Given the description of an element on the screen output the (x, y) to click on. 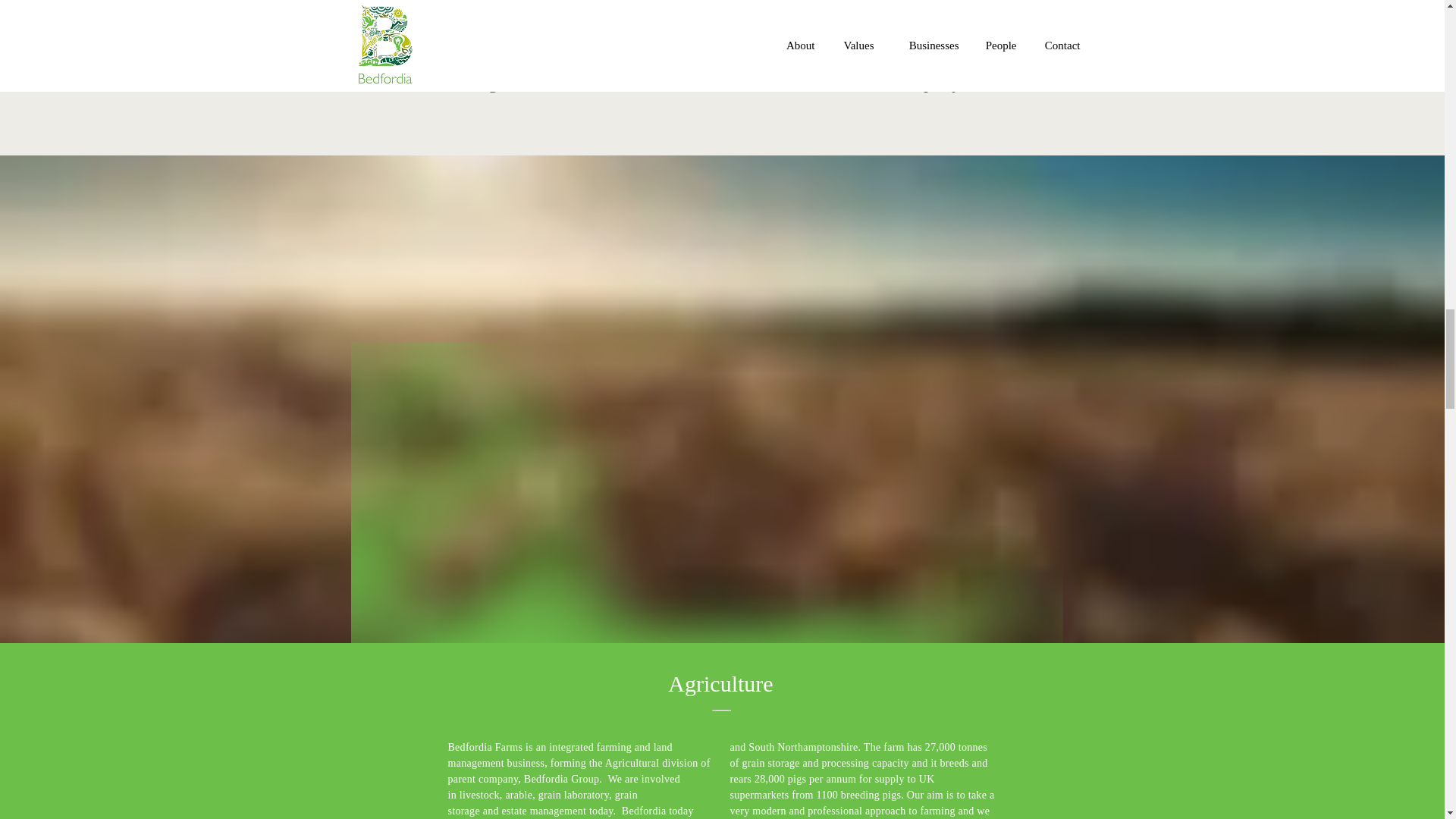
livestock (479, 794)
grain storage (541, 802)
grain laboratory (573, 794)
arable (518, 794)
Submit (334, 227)
and South Northamptonshire.  (796, 747)
